Given the description of an element on the screen output the (x, y) to click on. 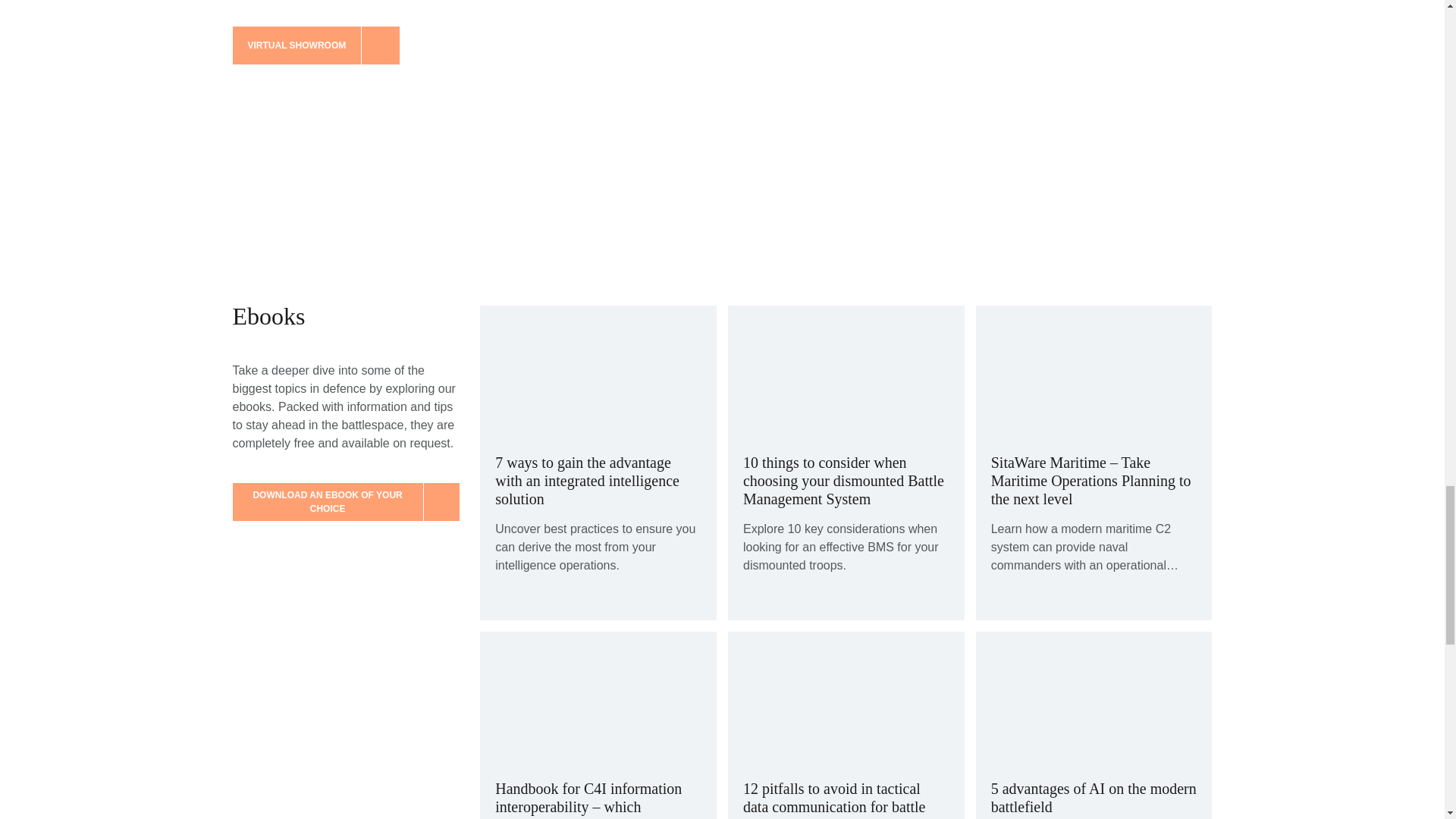
VIRTUAL SHOWROOM (344, 45)
VIRTUAL SHOWROOM (314, 45)
DOWNLOAD AN EBOOK OF YOUR CHOICE (344, 501)
